Given the description of an element on the screen output the (x, y) to click on. 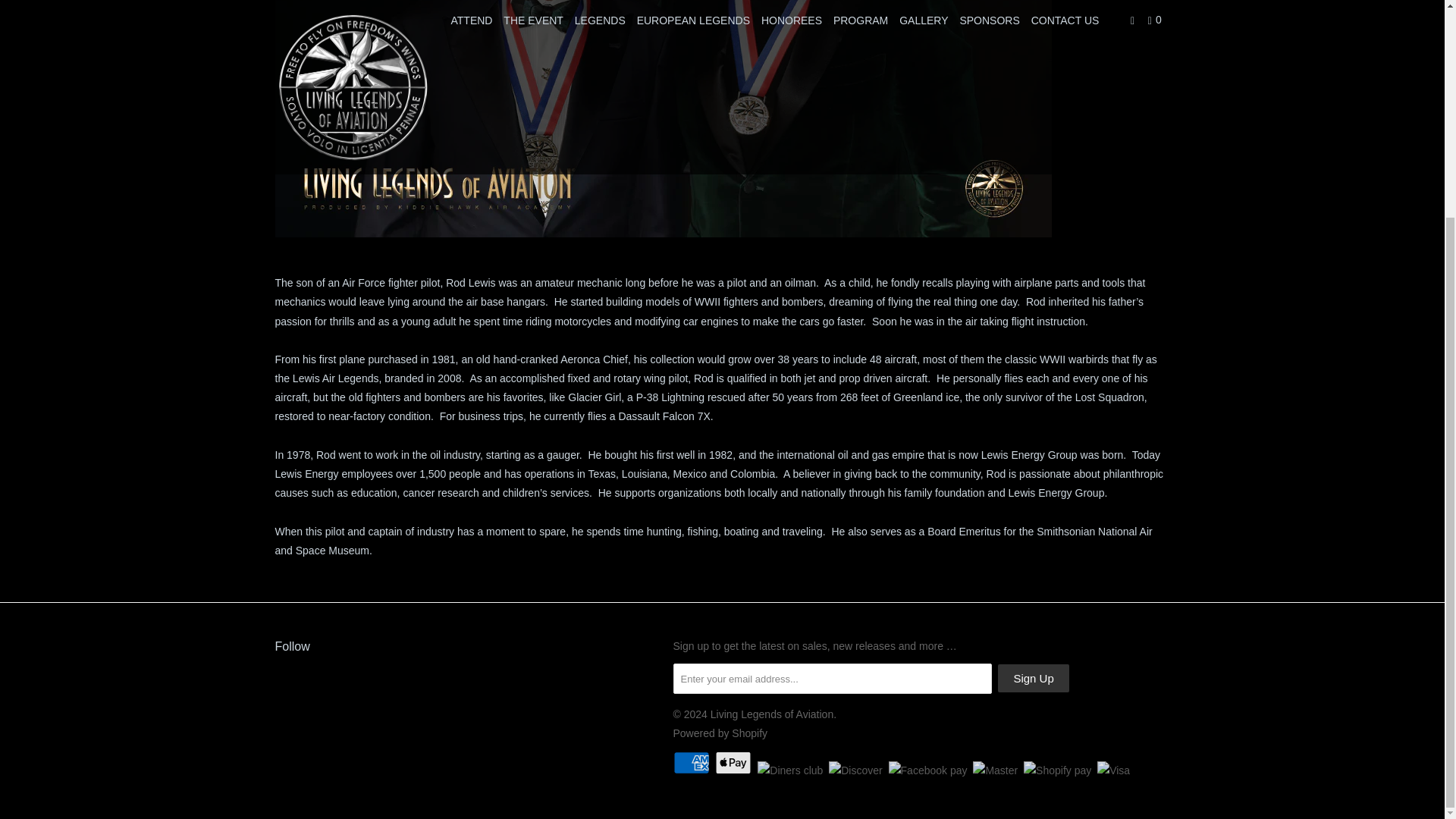
Sign Up (1032, 678)
Powered by Shopify (720, 733)
Living Legends of Aviation (771, 714)
Sign Up (1032, 678)
